Given the description of an element on the screen output the (x, y) to click on. 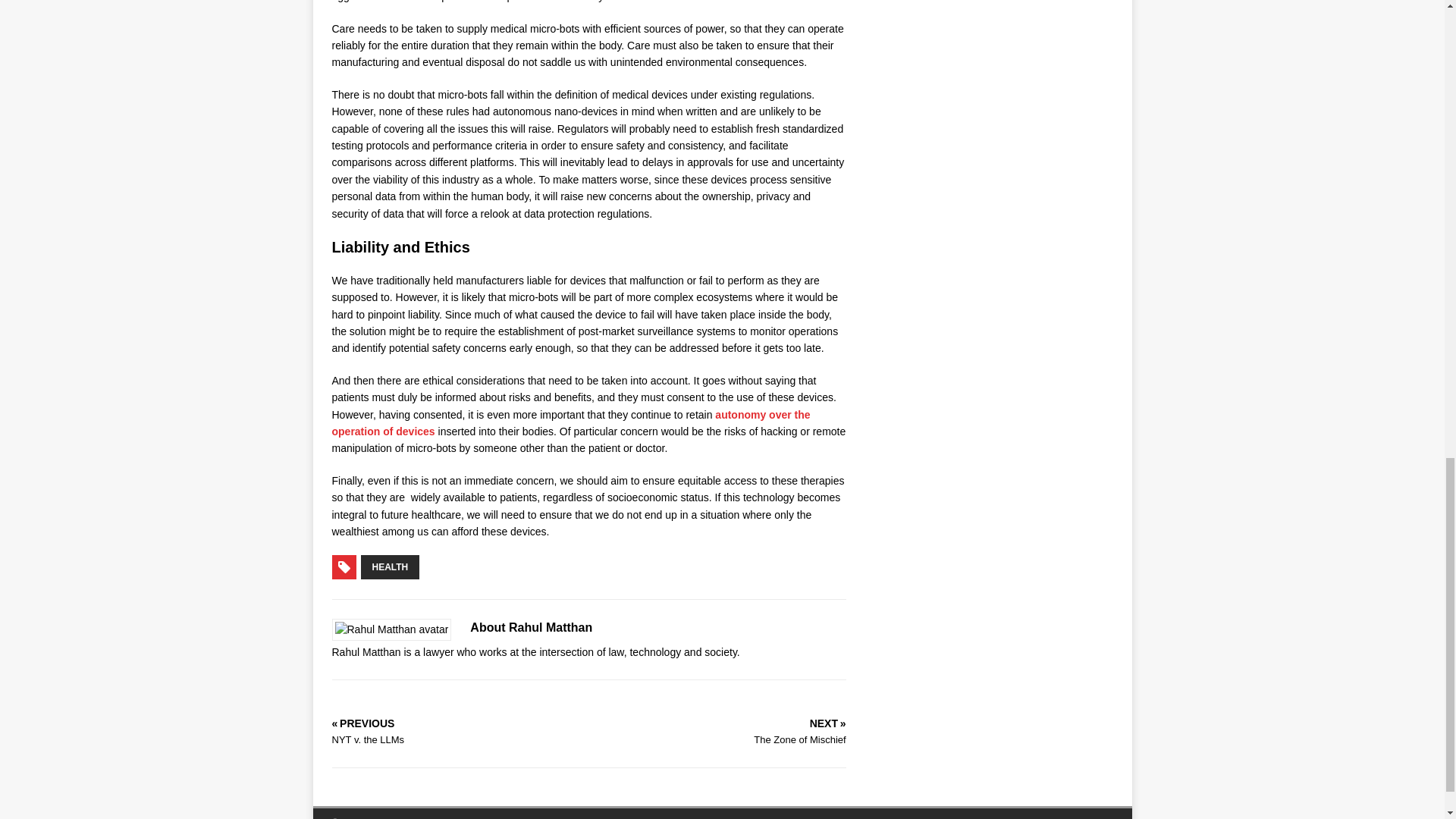
autonomy over the operation of devices (570, 422)
HEALTH (390, 567)
